Given the description of an element on the screen output the (x, y) to click on. 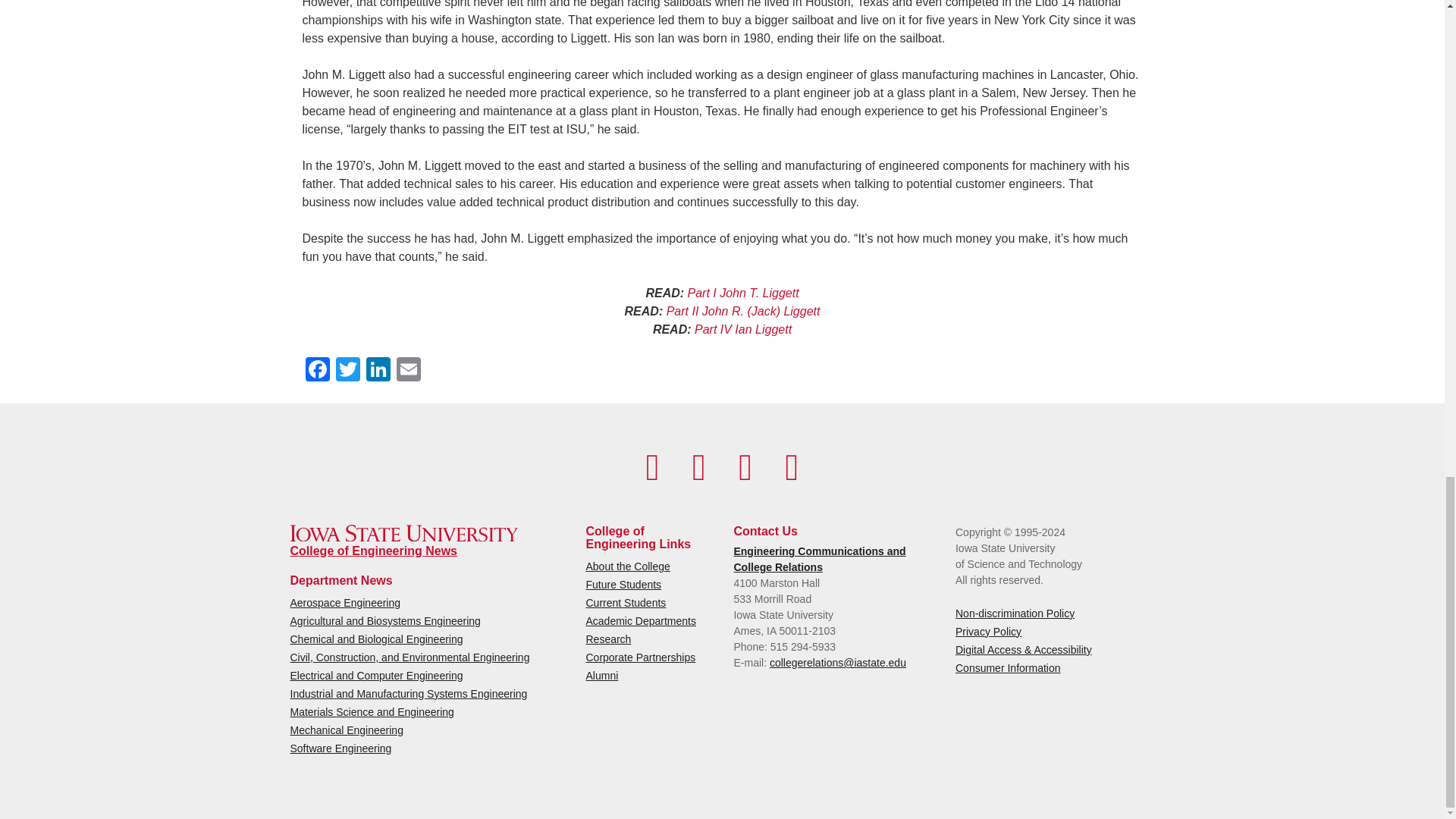
Twitter (346, 370)
LinkedIn (377, 370)
MyState (791, 467)
Instagram (745, 467)
Iowa State University (402, 533)
Facebook (651, 467)
YouTube (698, 467)
Facebook (316, 370)
Email (408, 370)
